Given the description of an element on the screen output the (x, y) to click on. 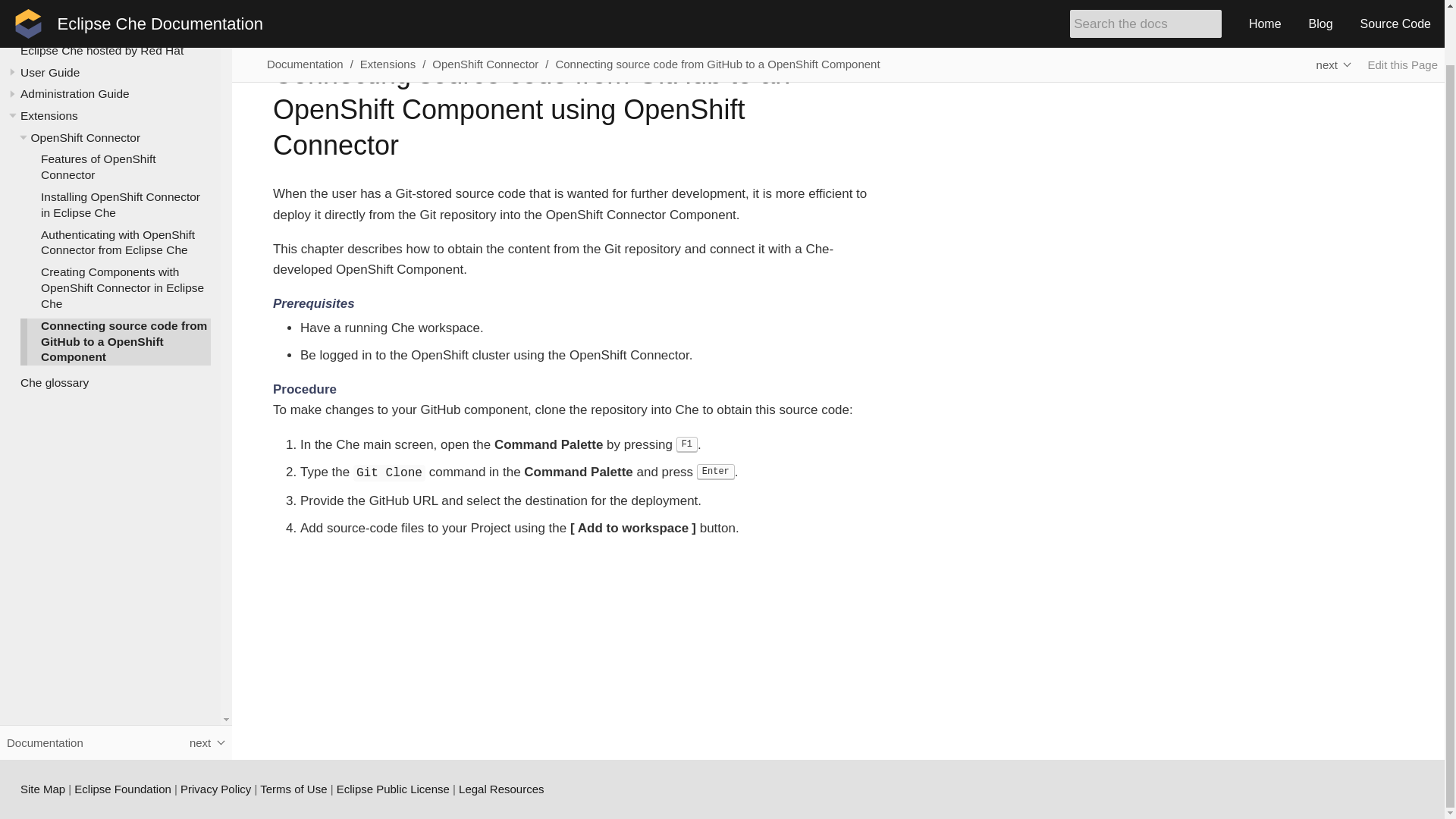
Eclipse Che hosted by Red Hat (101, 50)
Introduction to Che (69, 28)
Documentation (53, 6)
Show other versions of page (1333, 9)
